Given the description of an element on the screen output the (x, y) to click on. 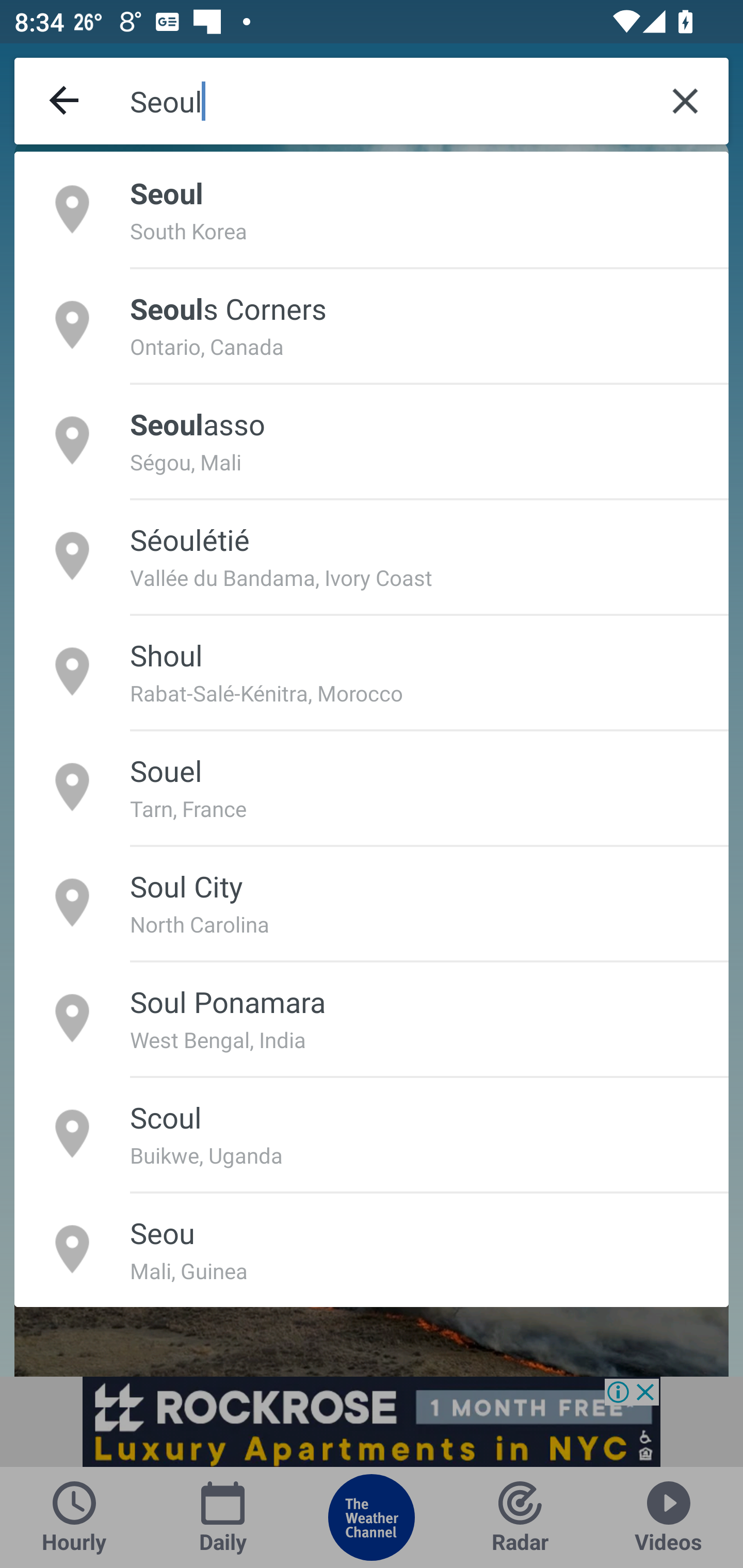
Back (64, 101)
Clear (684, 101)
Seoul (385, 100)
Seoul South Korea (371, 209)
Seouls Corners Ontario, Canada (371, 324)
Seoulasso Ségou, Mali (371, 440)
Séoulétié Vallée du Bandama, Ivory Coast (371, 555)
Shoul Rabat-Salé-Kénitra, Morocco (371, 671)
Souel Tarn, France (371, 787)
Soul City North Carolina (371, 902)
Soul Ponamara West Bengal, India (371, 1017)
Scoul Buikwe, Uganda (371, 1133)
Seou Mali, Guinea (371, 1249)
